Given the description of an element on the screen output the (x, y) to click on. 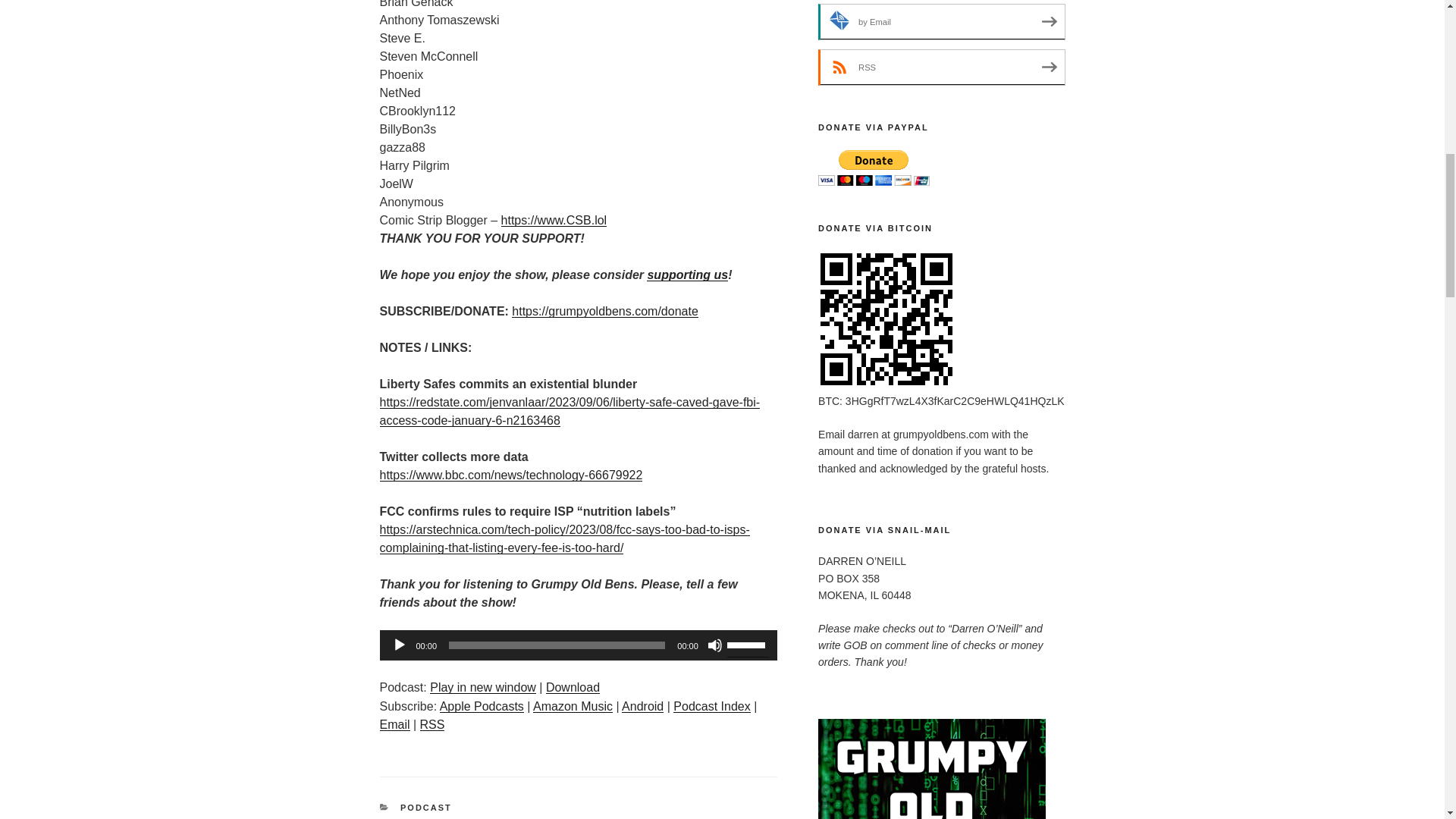
Subscribe on Apple Podcasts (481, 706)
RSS (432, 724)
Download (572, 686)
Amazon Music (572, 706)
Podcast Index (710, 706)
PODCAST (425, 807)
Subscribe by Email (393, 724)
Subscribe by Email (941, 22)
Play in new window (482, 686)
Subscribe on Podcast Index (710, 706)
Apple Podcasts (481, 706)
Play in new window (482, 686)
Subscribe on Android (642, 706)
Subscribe via RSS (941, 67)
Mute (714, 645)
